Given the description of an element on the screen output the (x, y) to click on. 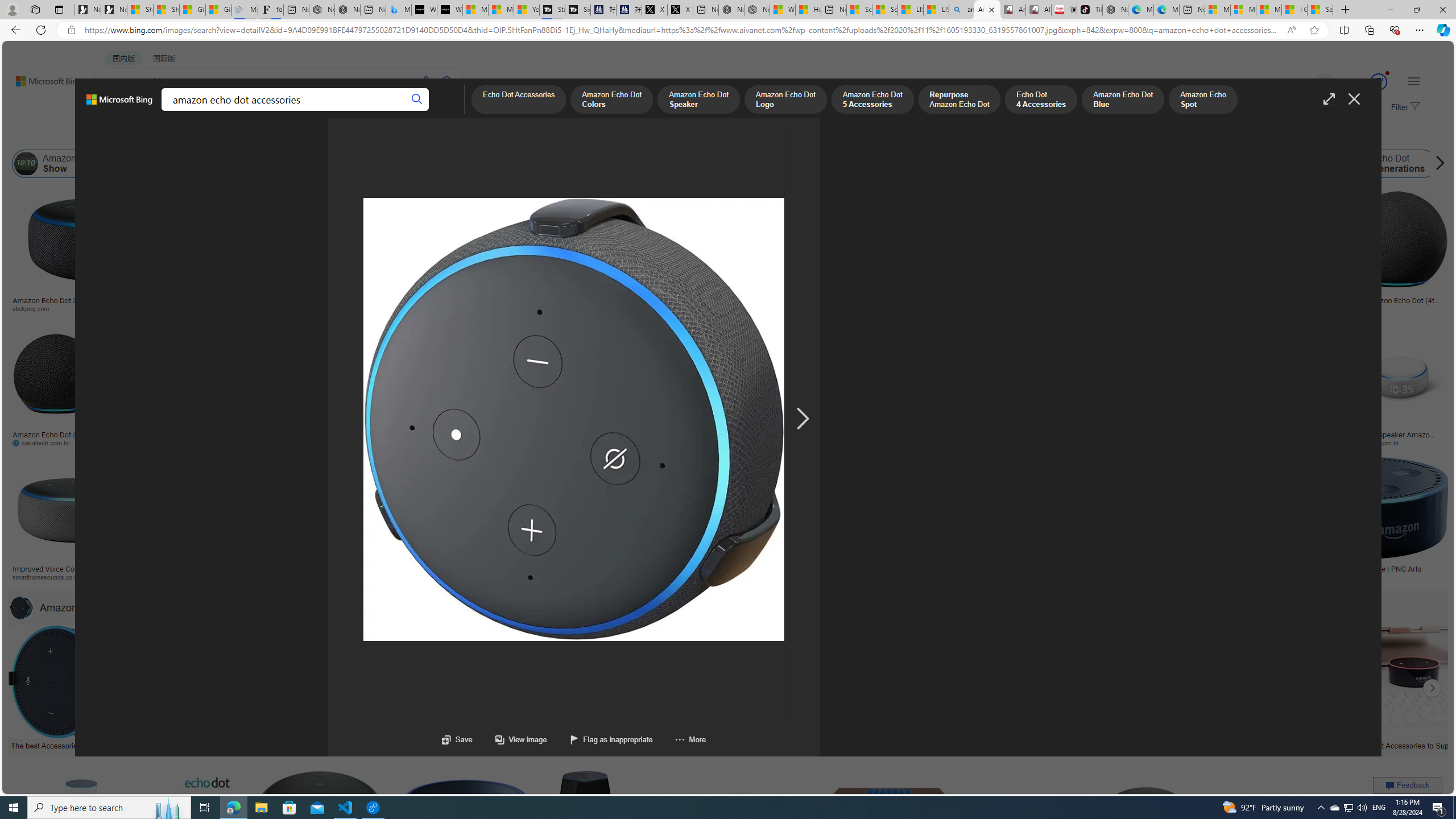
I Gained 20 Pounds of Muscle in 30 Days! | Watch (1293, 9)
With Clock (565, 261)
Save (457, 739)
Amazon Echo Plus (1062, 163)
Search (416, 99)
buynow.com.ec (601, 442)
Amazon Echo Dot With Clock Review | Security.org (230, 568)
Nordace - Summer Adventures 2024 (756, 9)
Color (173, 135)
Microsoft Rewards 147 (1364, 81)
